Given the description of an element on the screen output the (x, y) to click on. 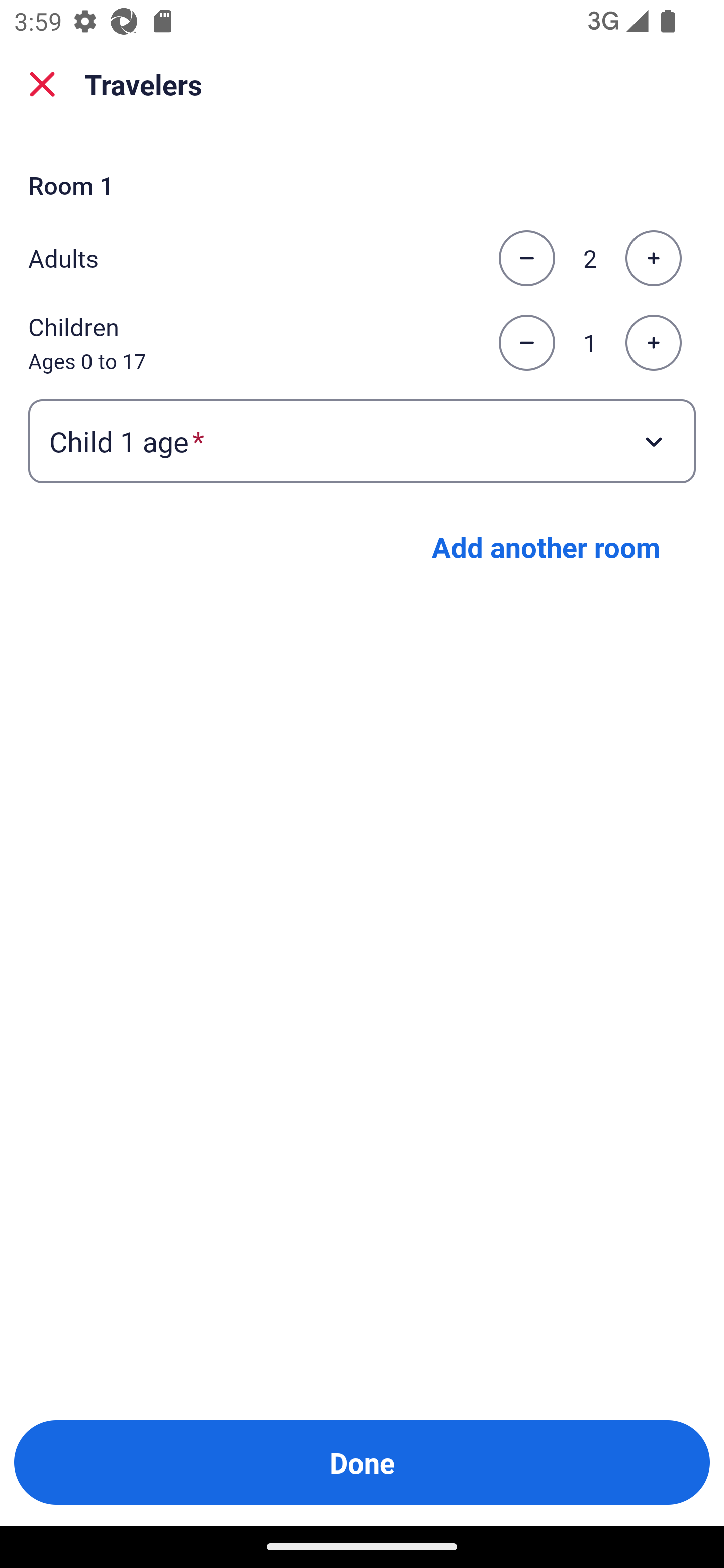
close (42, 84)
Decrease the number of adults (526, 258)
Increase the number of adults (653, 258)
Decrease the number of children (526, 343)
Increase the number of children (653, 343)
Child 1 age required Button (361, 440)
Add another room (545, 546)
Done (361, 1462)
